Given the description of an element on the screen output the (x, y) to click on. 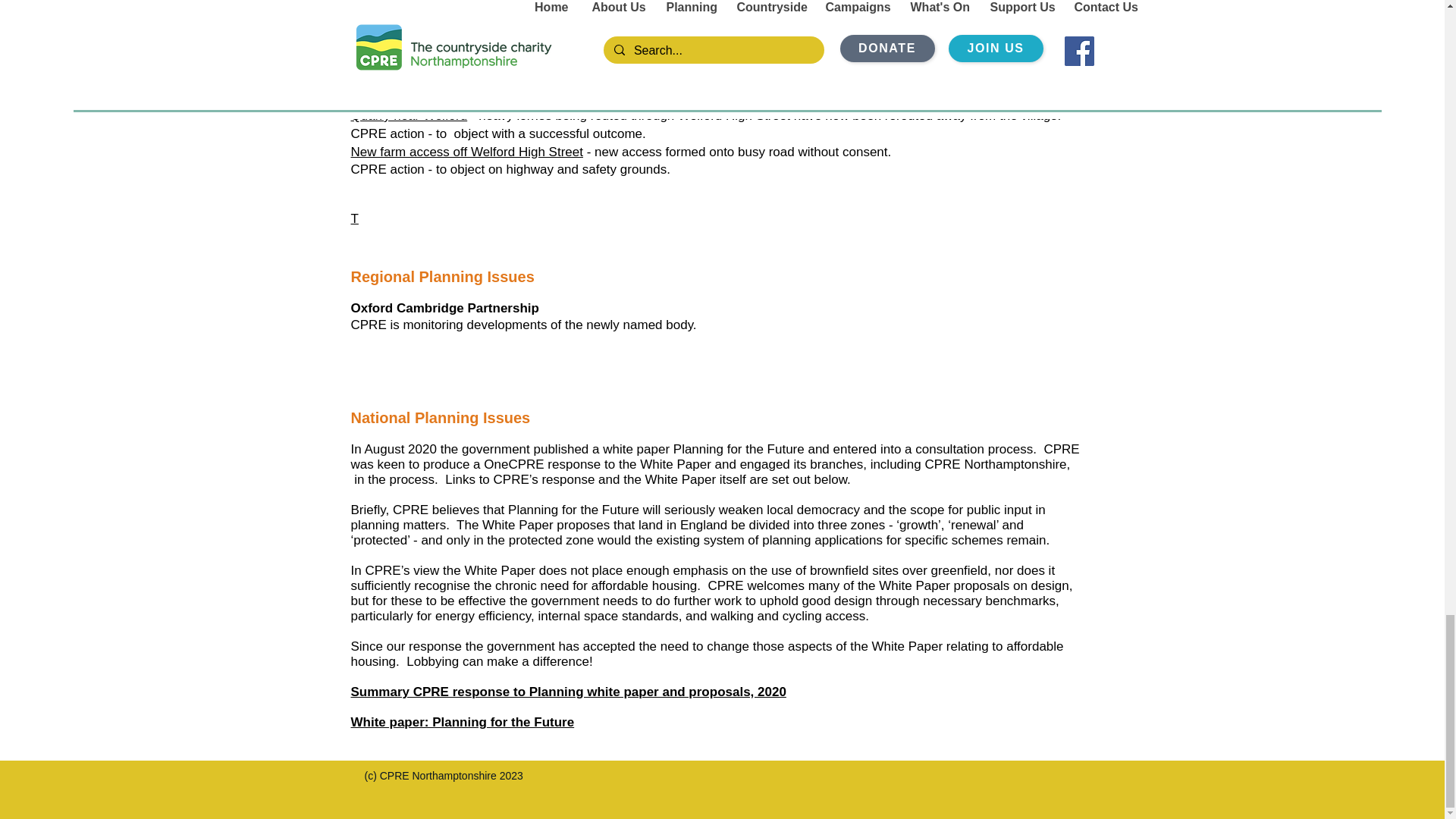
White paper: Planning for the Future (461, 721)
